Given the description of an element on the screen output the (x, y) to click on. 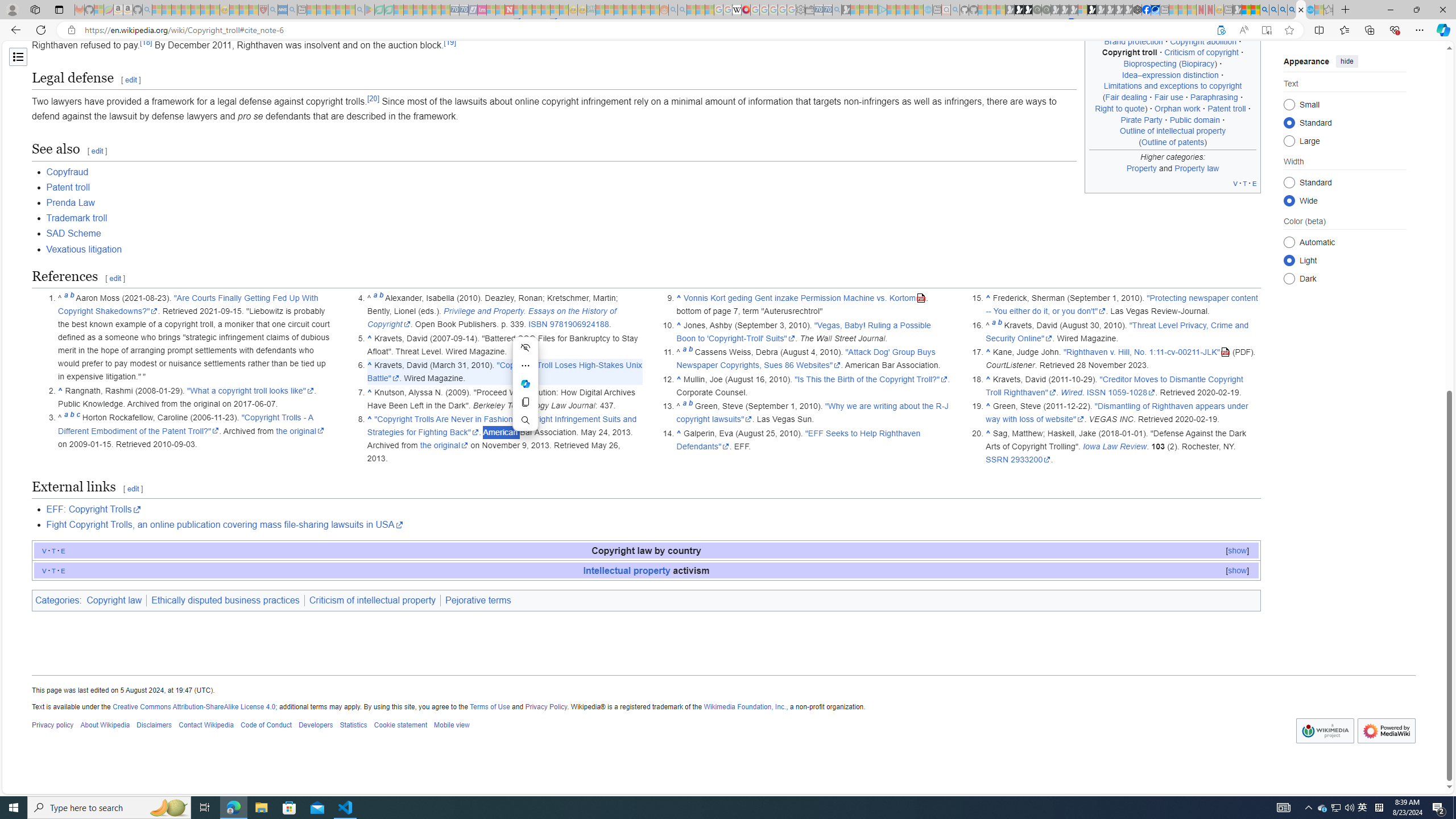
Cookie statement (400, 725)
Statistics (352, 725)
Categories (57, 600)
Standard (1289, 182)
Iowa Law Review (1115, 446)
